Given the description of an element on the screen output the (x, y) to click on. 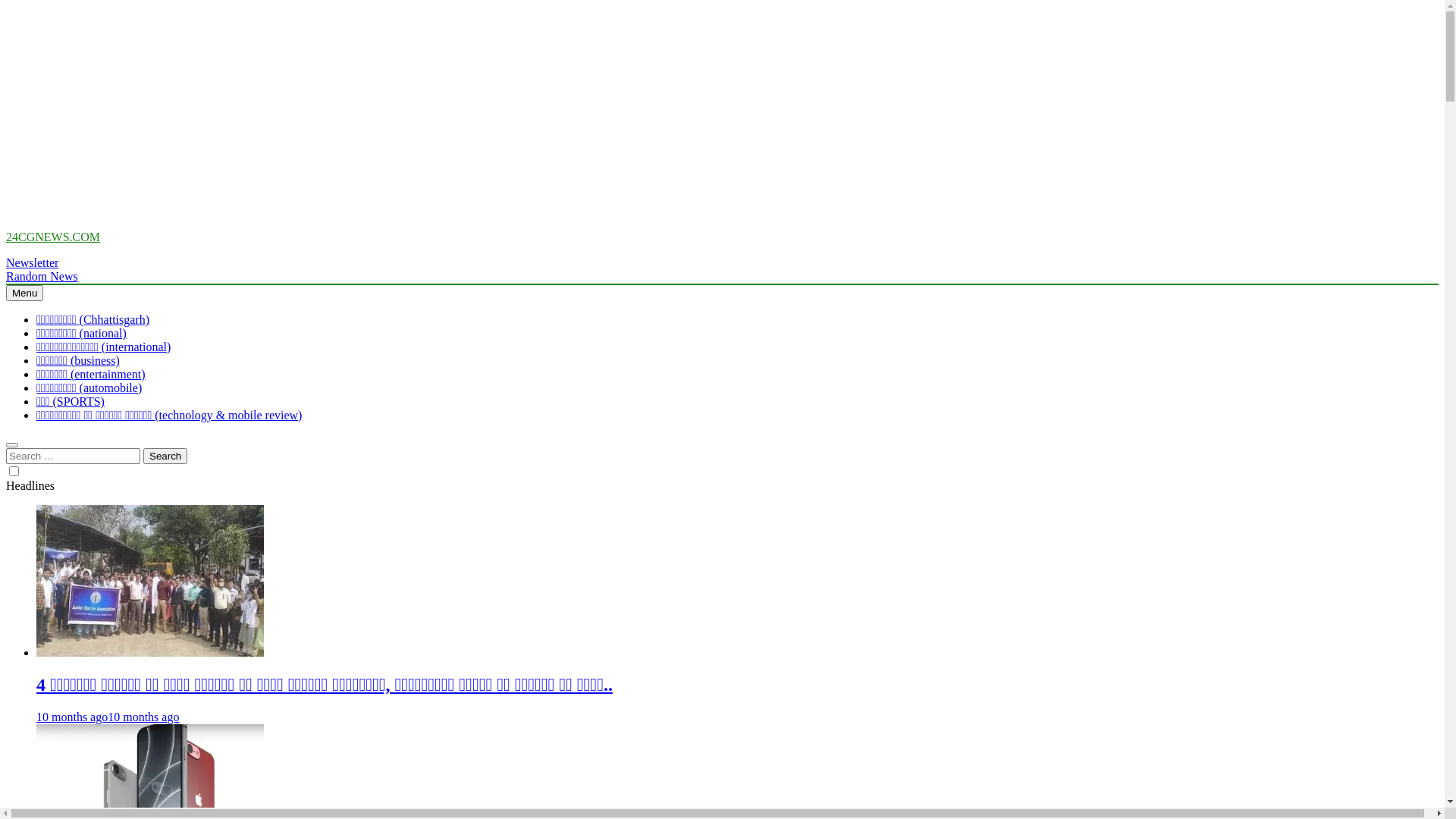
Menu Element type: text (24, 293)
Search Element type: text (165, 456)
24CGNEWS.COM Element type: text (53, 236)
10 months ago10 months ago Element type: text (107, 716)
Skip to content Element type: text (5, 229)
Newsletter Element type: text (32, 262)
Advertisement Element type: hover (461, 112)
Random News Element type: text (42, 275)
